Given the description of an element on the screen output the (x, y) to click on. 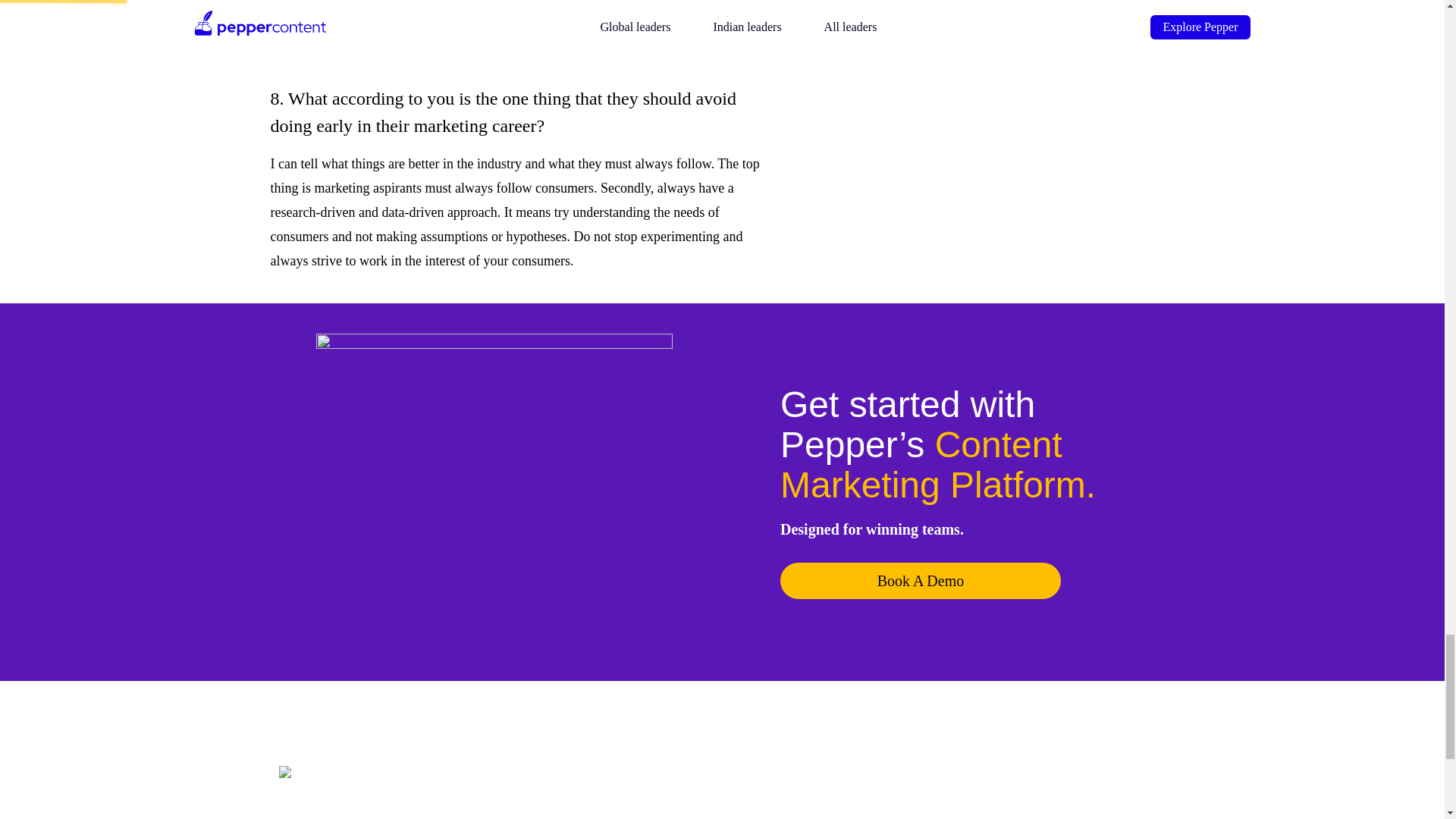
Book A Demo (920, 580)
